Given the description of an element on the screen output the (x, y) to click on. 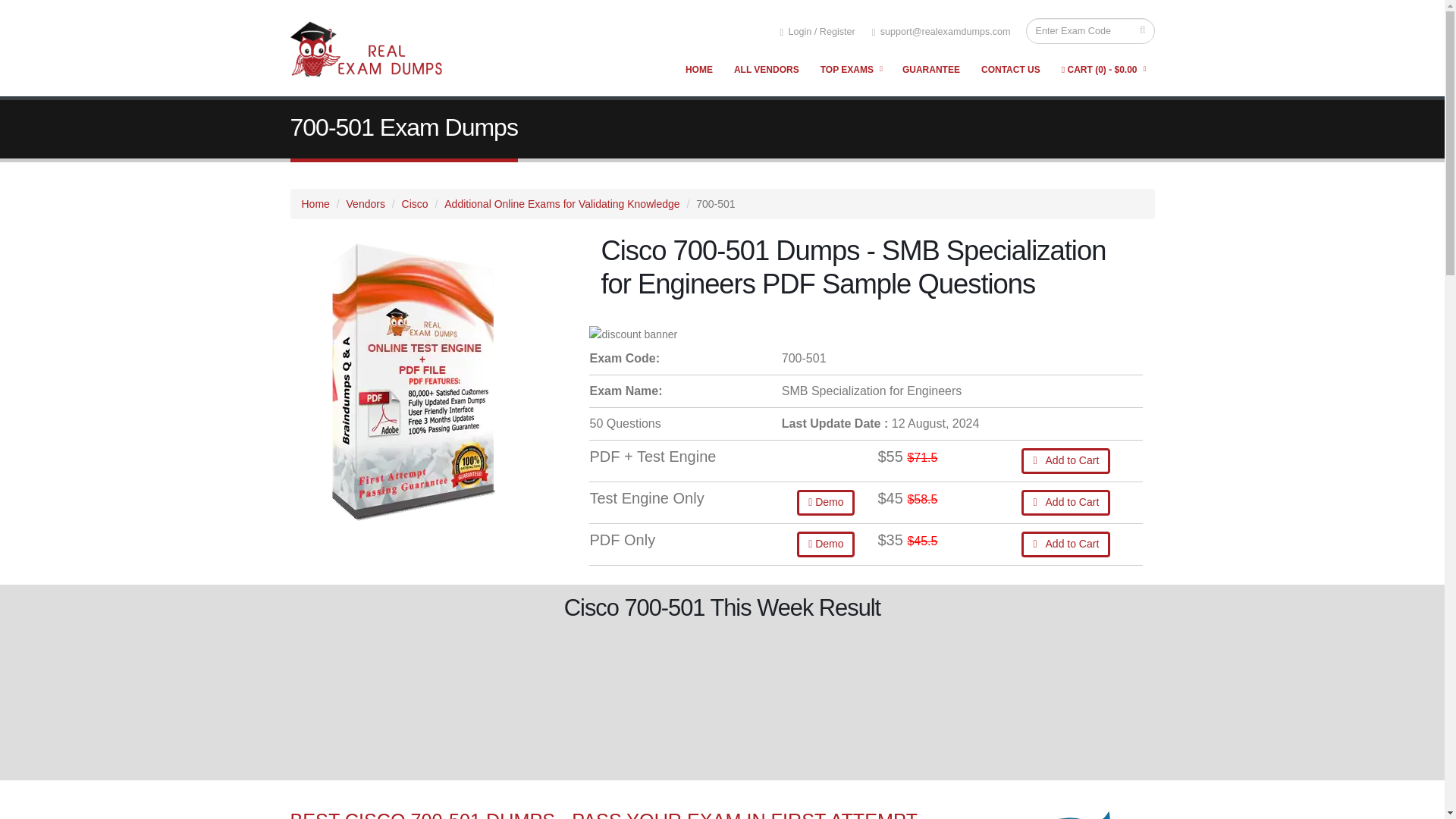
ALL VENDORS (766, 69)
TOP EXAMS (850, 69)
HOME (698, 69)
GUARANTEE (930, 69)
